Given the description of an element on the screen output the (x, y) to click on. 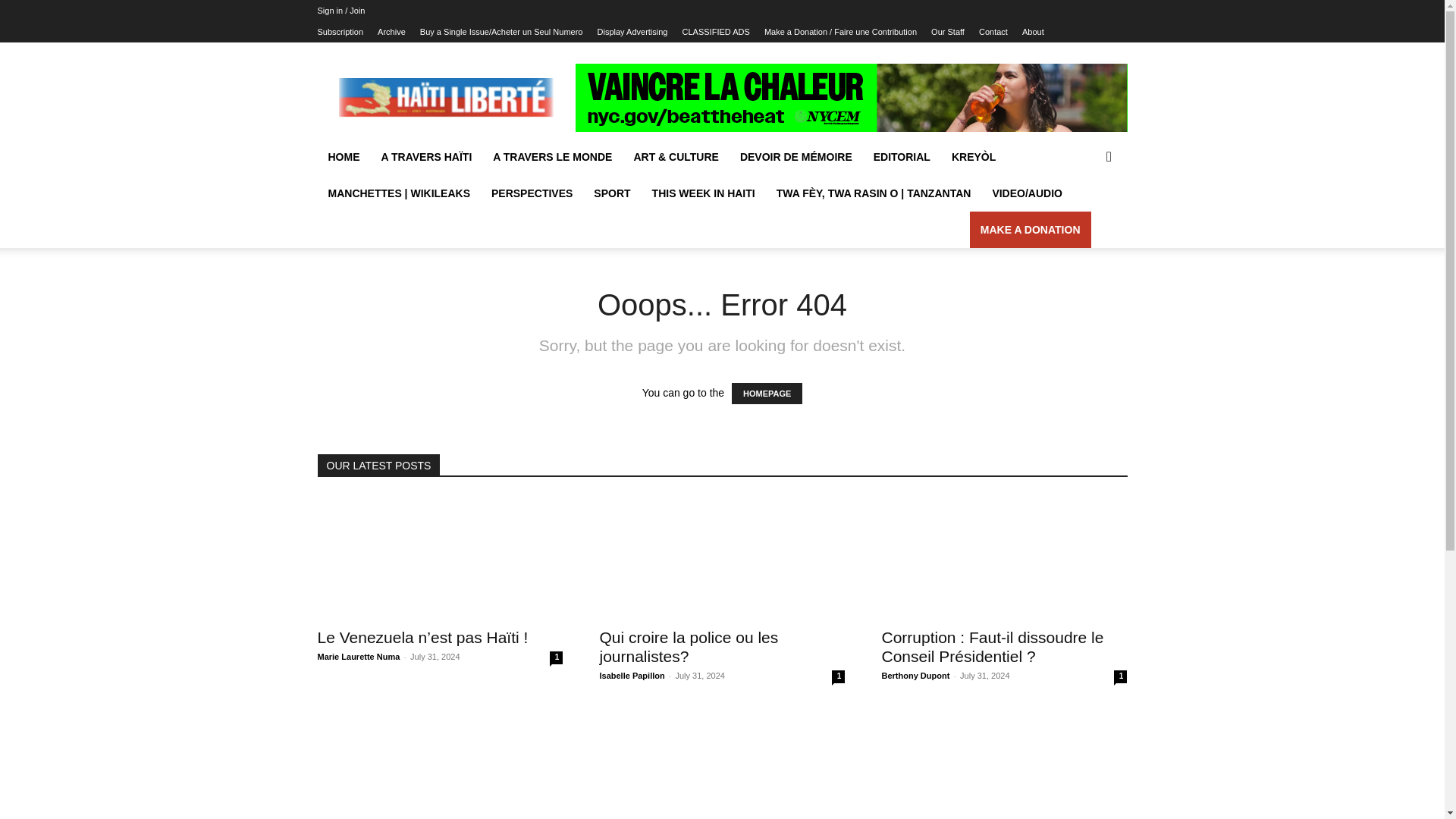
Qui croire la police ou les journalistes? (687, 646)
Qui croire la police ou les journalistes? (721, 557)
